Given the description of an element on the screen output the (x, y) to click on. 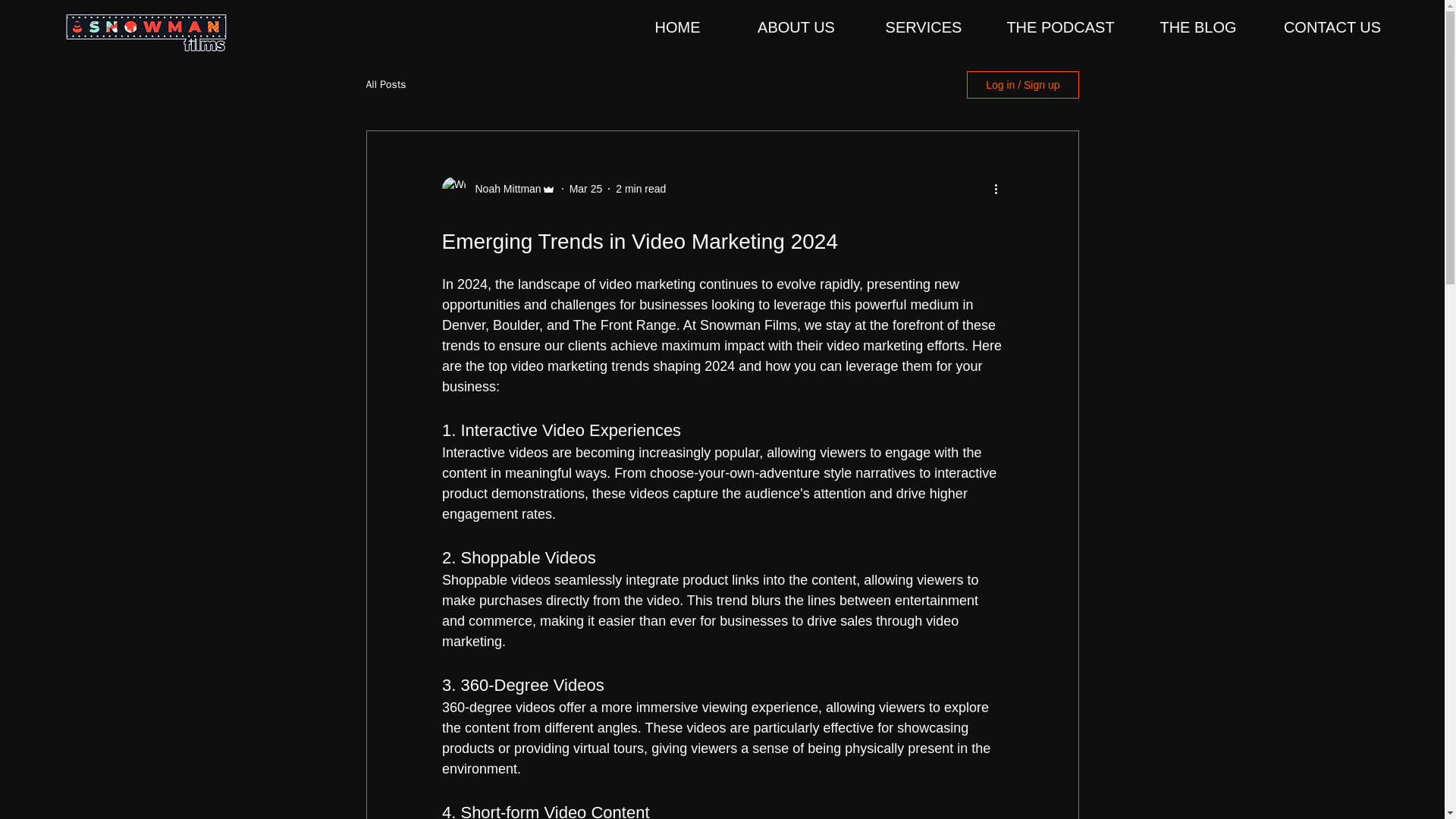
ABOUT US (796, 26)
Mar 25 (585, 187)
All Posts (385, 84)
CONTACT US (1332, 26)
2 min read (640, 187)
SERVICES (923, 26)
HOME (677, 26)
THE BLOG (1198, 26)
THE PODCAST (1060, 26)
Noah Mittman (502, 188)
